Given the description of an element on the screen output the (x, y) to click on. 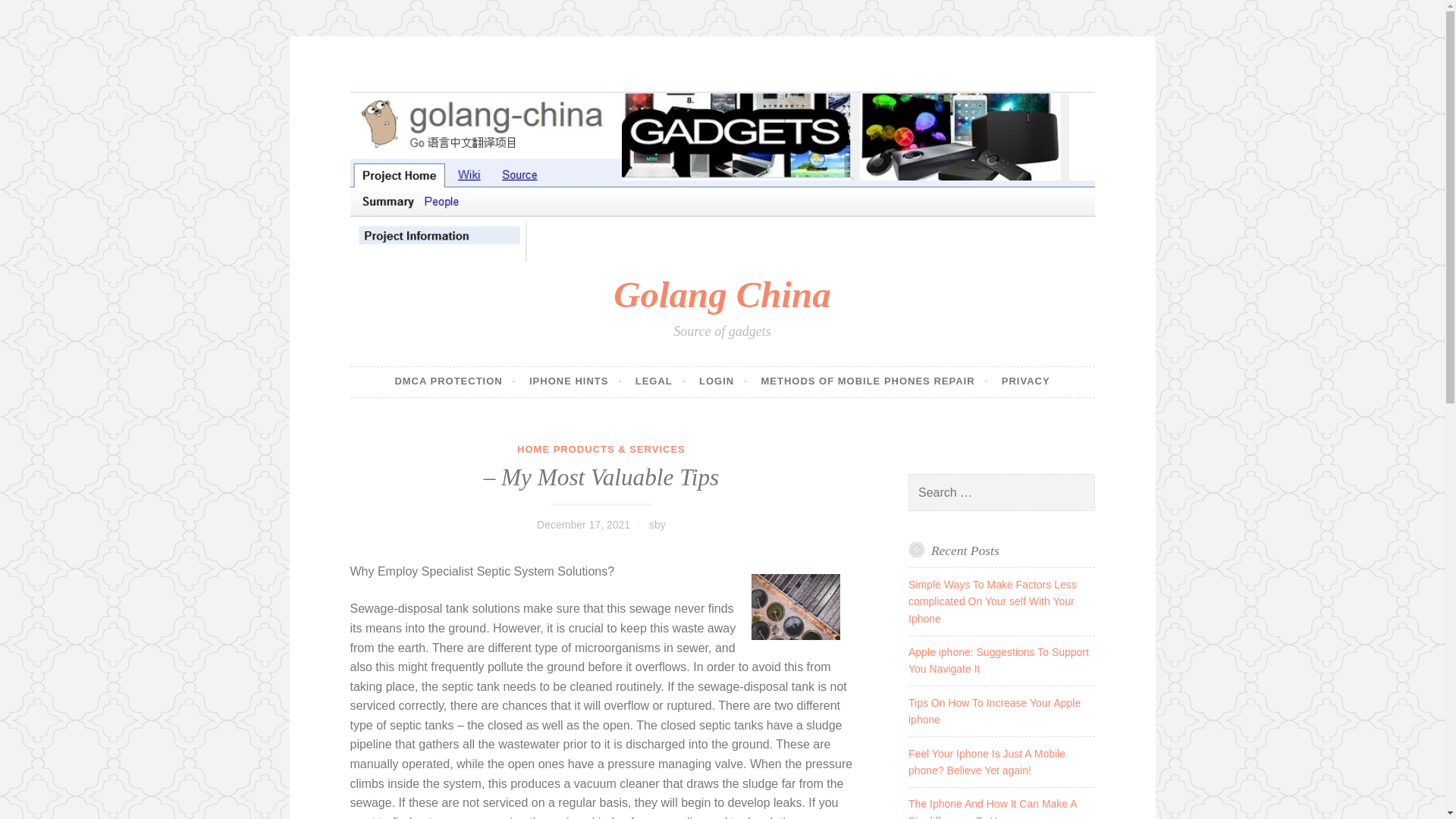
Apple iphone: Suggestions To Support You Navigate It (998, 660)
LOGIN (723, 381)
sby (657, 524)
The Iphone And How It Can Make A Big difference To You (992, 808)
Tips On How To Increase Your Apple iphone (994, 710)
LEGAL (659, 381)
Feel Your Iphone Is Just A Mobile phone? Believe Yet again! (986, 761)
METHODS OF MOBILE PHONES REPAIR (874, 381)
Search (33, 13)
PRIVACY (1025, 381)
December 17, 2021 (583, 524)
Golang China (720, 294)
IPHONE HINTS (575, 381)
DMCA PROTECTION (454, 381)
